Given the description of an element on the screen output the (x, y) to click on. 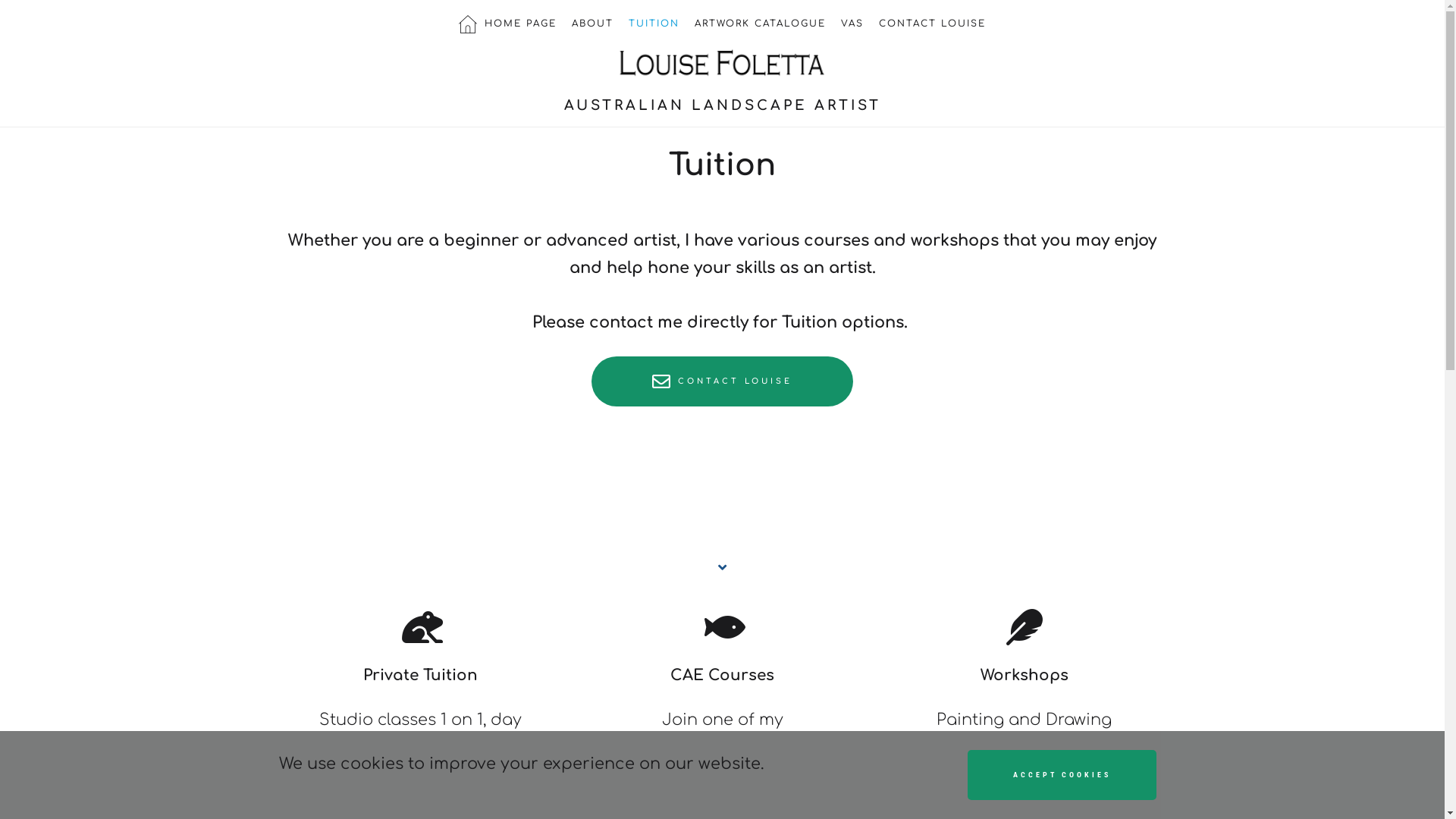
CONTACT LOUISE Element type: text (932, 23)
ARTWORK CATALOGUE Element type: text (759, 23)
ACCEPT COOKIES Element type: text (1061, 774)
CONTACT LOUISE Element type: text (722, 381)
AUSTRALIAN LANDSCAPE ARTIST Element type: text (722, 108)
TUITION Element type: text (653, 23)
ABOUT Element type: text (592, 23)
VAS Element type: text (852, 23)
HOME PAGE Element type: text (507, 23)
